Given the description of an element on the screen output the (x, y) to click on. 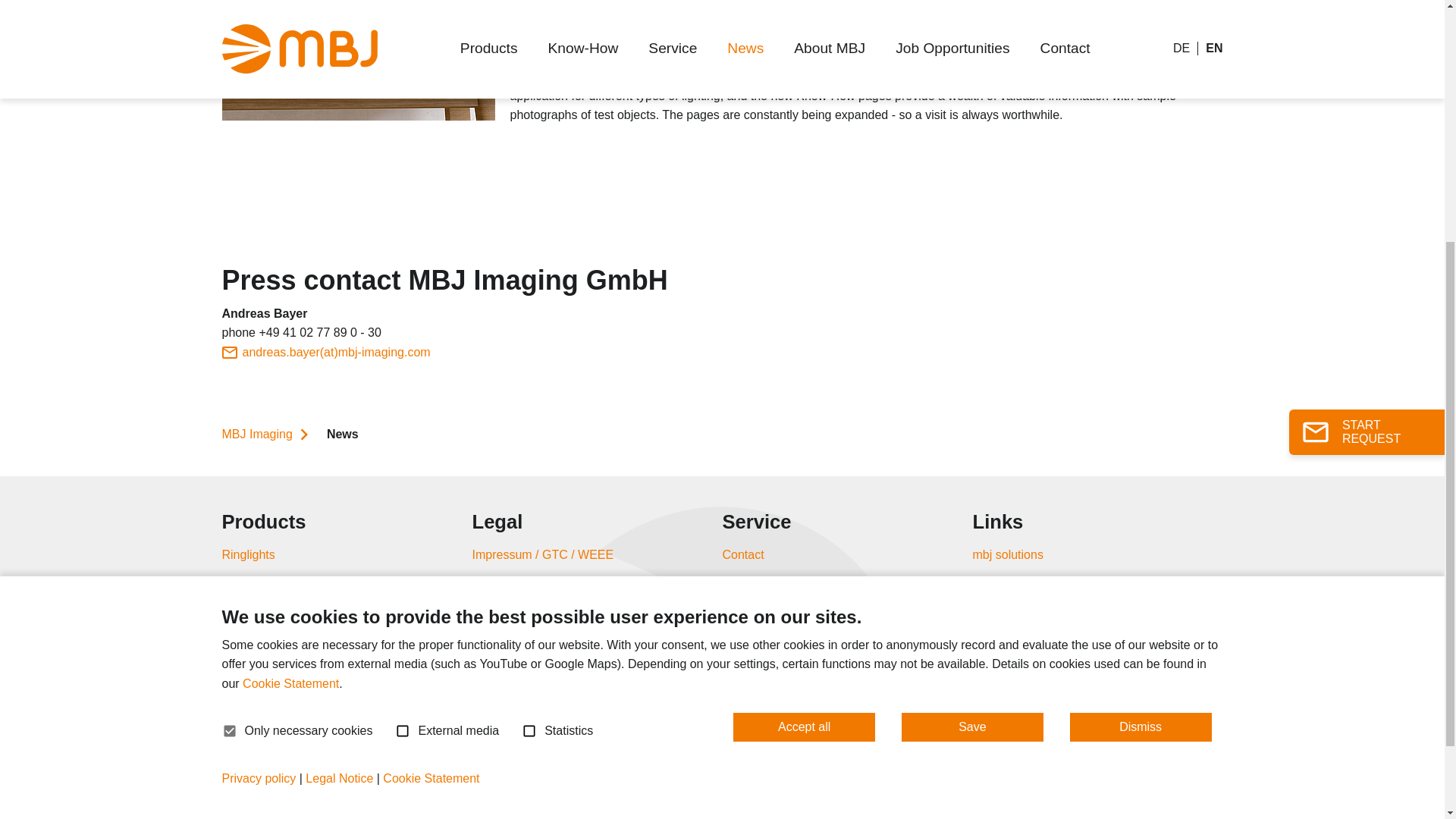
Accessories (253, 797)
Know How (750, 581)
Toplights (245, 634)
LED Controller (261, 769)
Data Privacy (505, 581)
Ringlights (248, 554)
MBJ Imaging (267, 434)
Barlights (244, 581)
Individual Solutions (273, 743)
Contact (742, 554)
Backlights (248, 608)
Spotlights (248, 662)
Patternlight (251, 716)
